Given the description of an element on the screen output the (x, y) to click on. 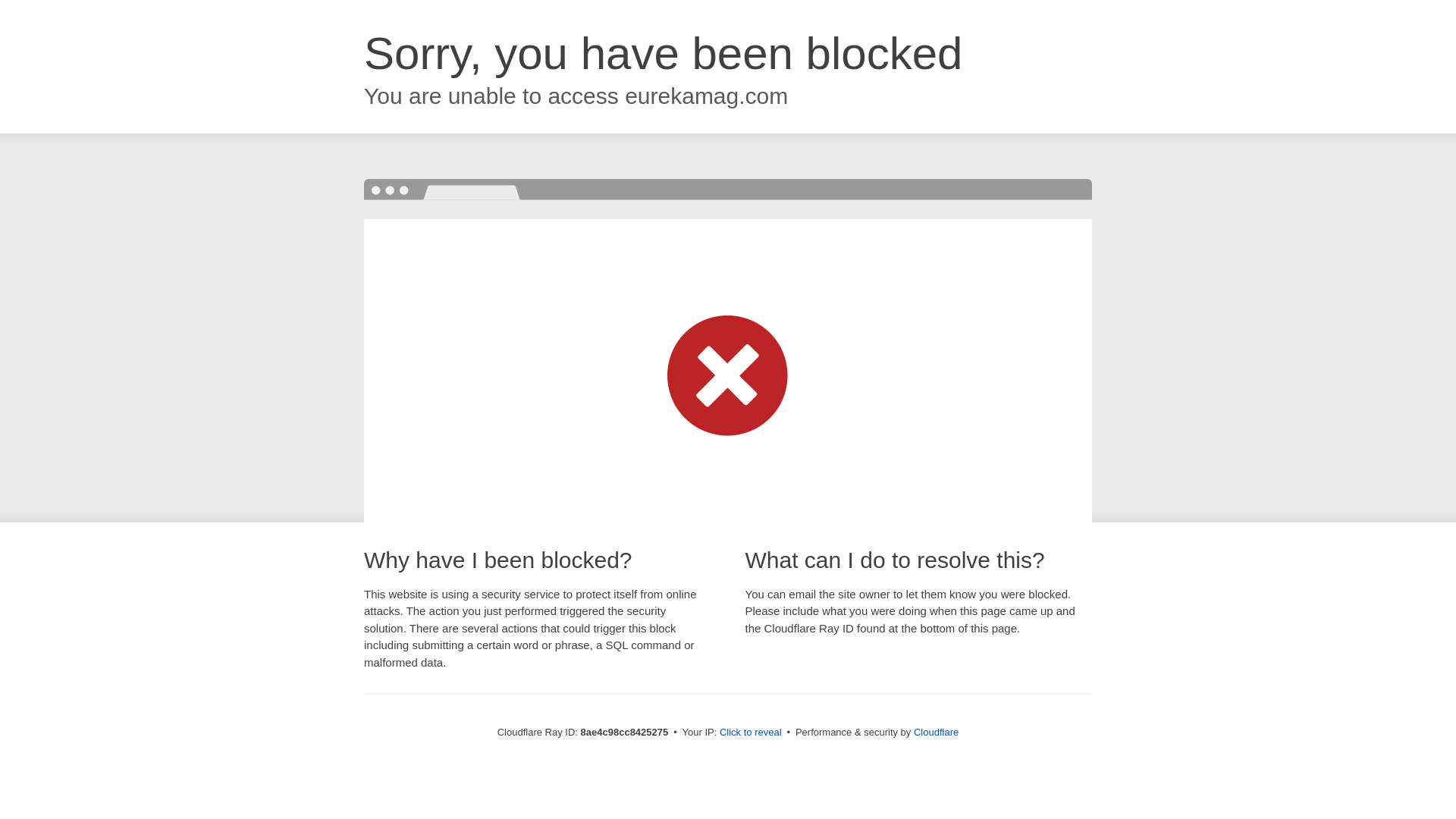
Click to reveal (750, 732)
Cloudflare (936, 731)
